Given the description of an element on the screen output the (x, y) to click on. 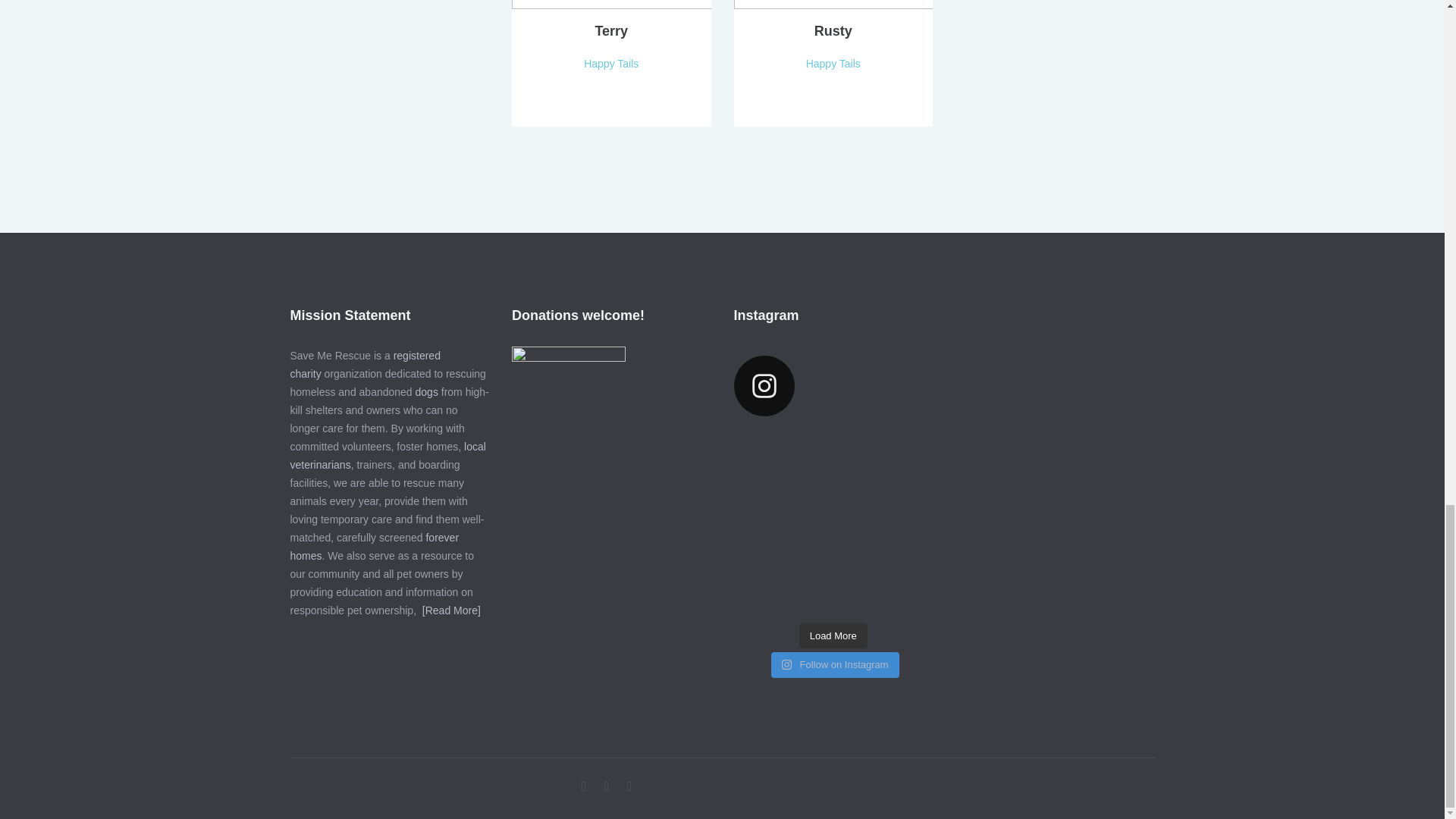
Terry (610, 30)
